Given the description of an element on the screen output the (x, y) to click on. 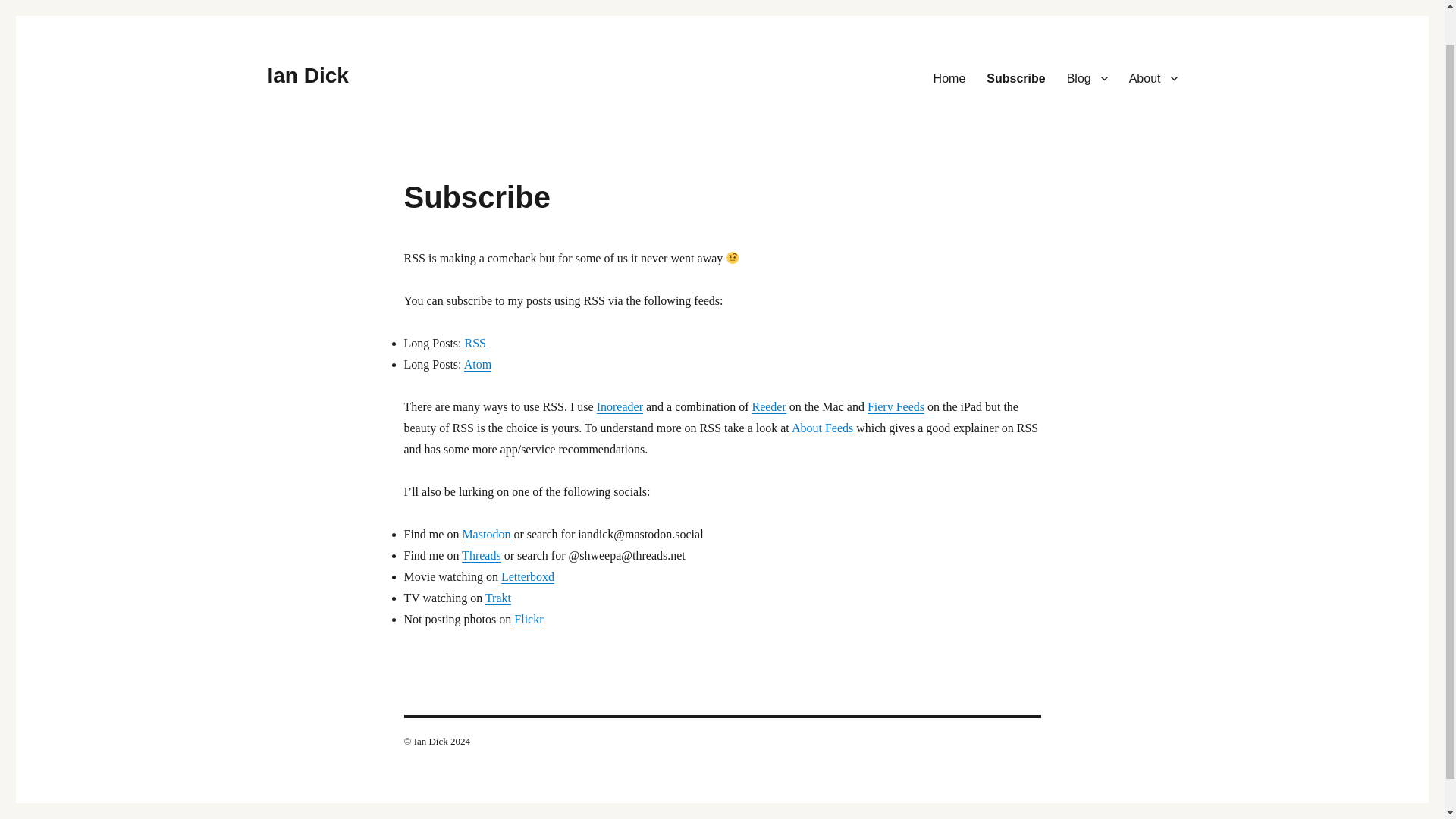
Blog (1087, 78)
Letterboxd (527, 576)
Ian Dick (306, 74)
Flickr (528, 618)
About (1153, 78)
Mastodon (486, 533)
Home (949, 78)
Inoreader (619, 406)
Subscribe (1015, 78)
Atom (478, 364)
